Given the description of an element on the screen output the (x, y) to click on. 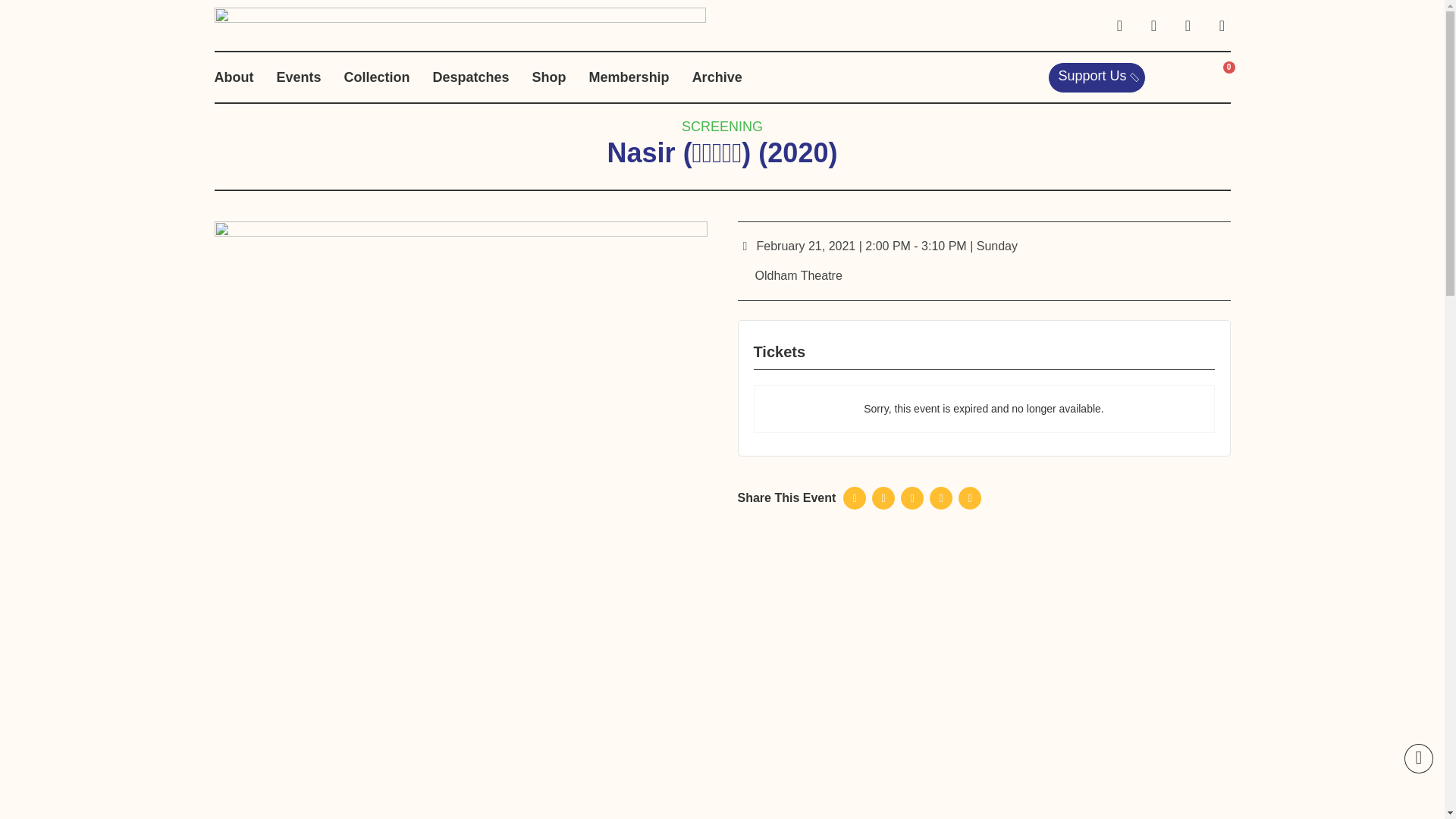
Collection (376, 77)
Events (298, 77)
Shop (549, 77)
Archive (717, 77)
Despatches (470, 77)
Membership (629, 77)
Share by Email (969, 497)
About (233, 77)
